Given the description of an element on the screen output the (x, y) to click on. 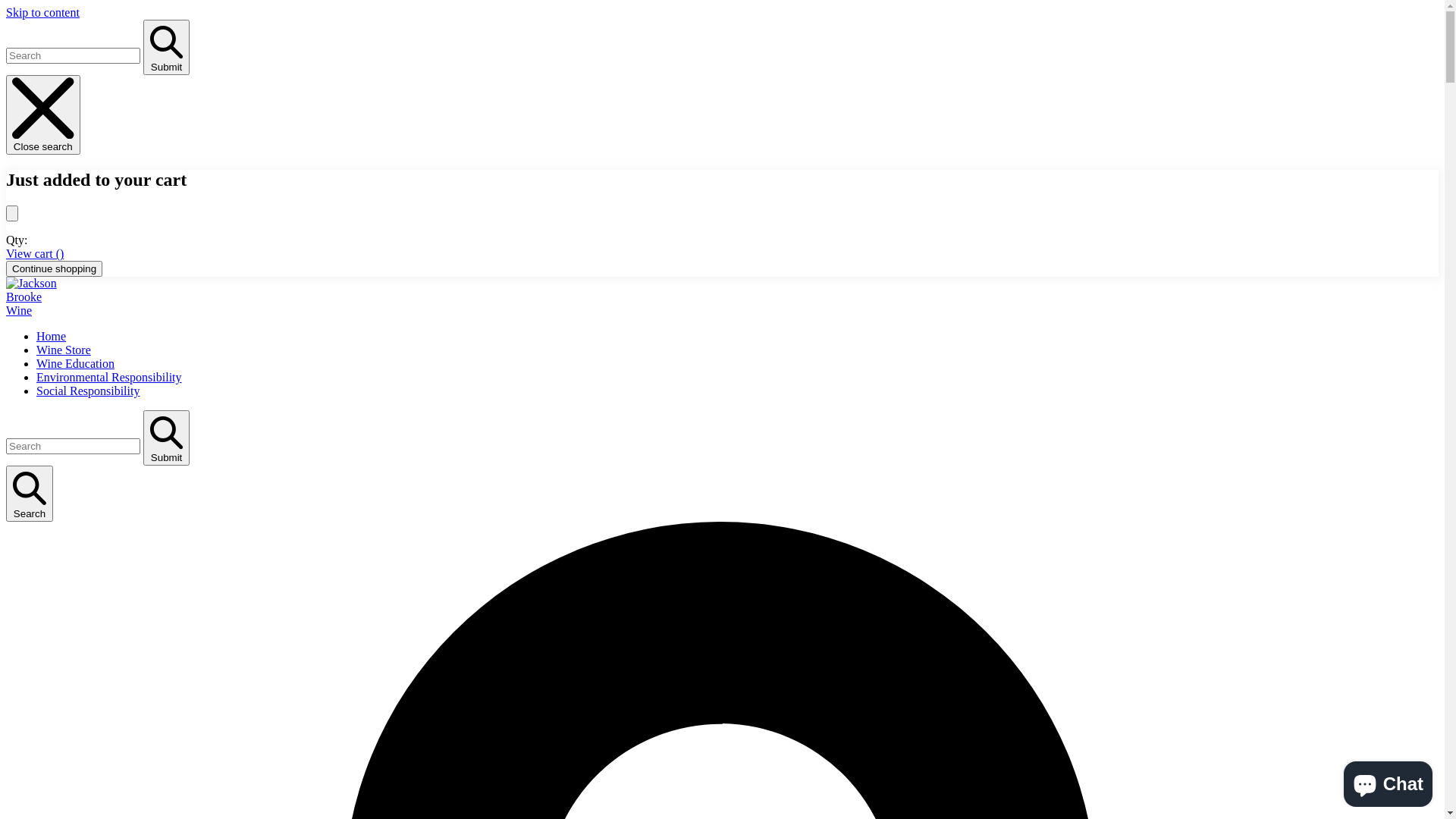
Close search Element type: text (43, 115)
Search Element type: text (29, 493)
Home Element type: text (50, 335)
Submit Element type: text (166, 47)
Submit Element type: text (166, 437)
Environmental Responsibility Element type: text (109, 376)
Continue shopping Element type: text (54, 268)
Social Responsibility Element type: text (87, 390)
Wine Store Element type: text (63, 349)
Shopify online store chat Element type: hover (1388, 780)
View cart () Element type: text (34, 253)
Wine Education Element type: text (75, 363)
Skip to content Element type: text (42, 12)
